Given the description of an element on the screen output the (x, y) to click on. 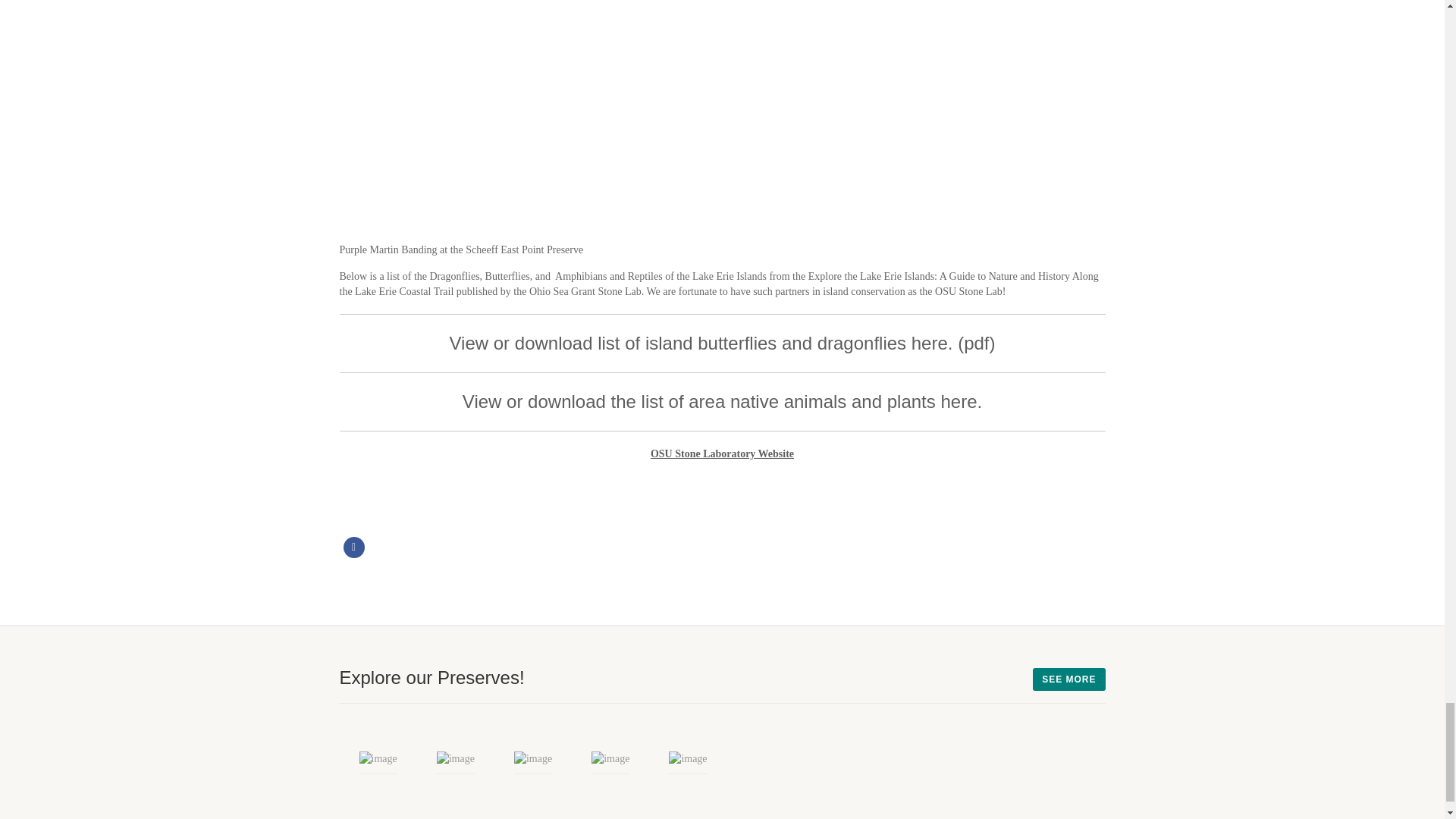
Share on Facebook (353, 547)
